Given the description of an element on the screen output the (x, y) to click on. 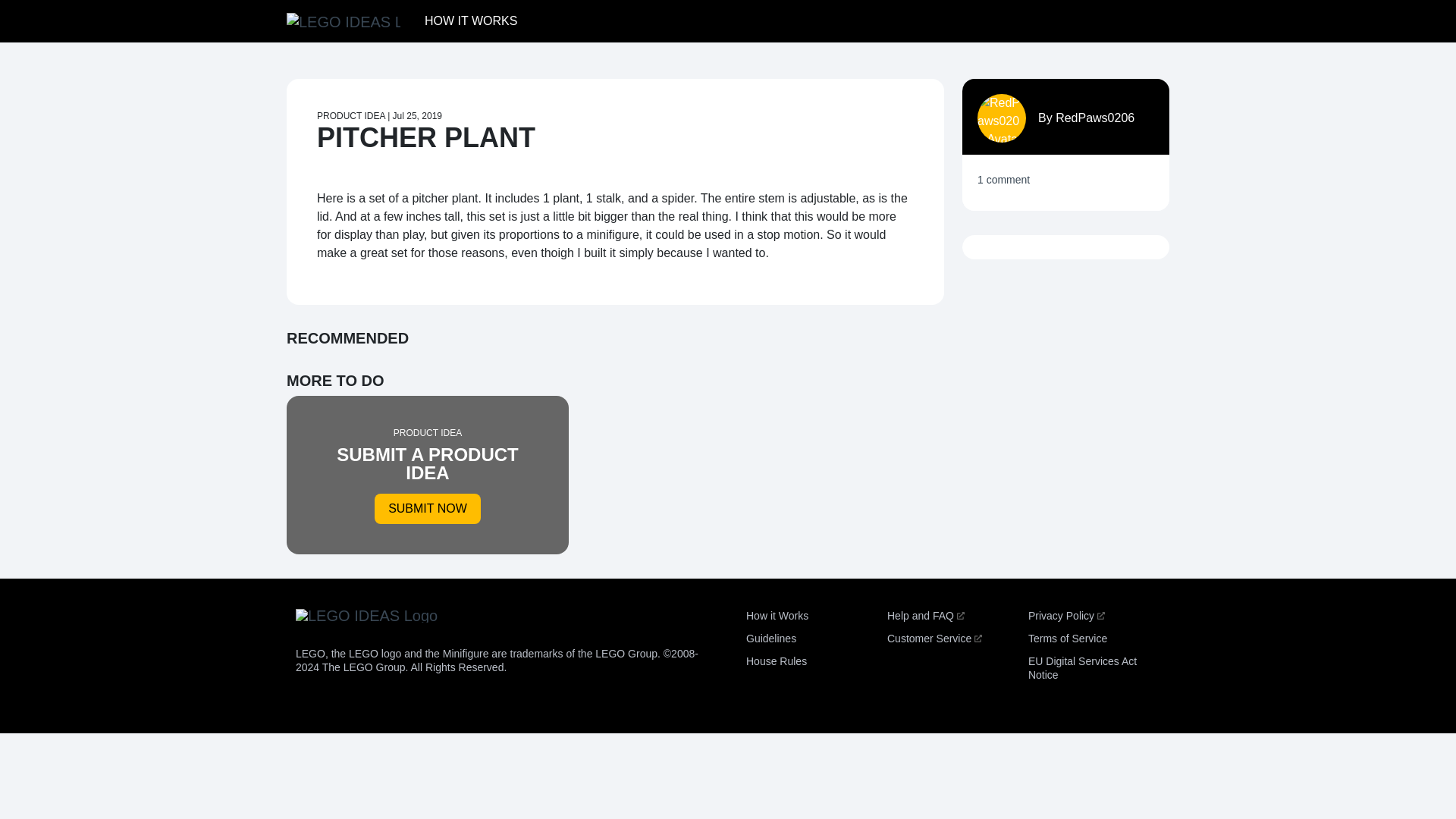
House Rules (775, 661)
How it Works (776, 615)
EU Digital Services Act Notice (1082, 667)
How It Works (470, 20)
RedPaws0206 (1094, 117)
Help and FAQ (924, 615)
Customer Service (933, 638)
Terms of Service (427, 474)
Privacy Policy (1066, 638)
